Given the description of an element on the screen output the (x, y) to click on. 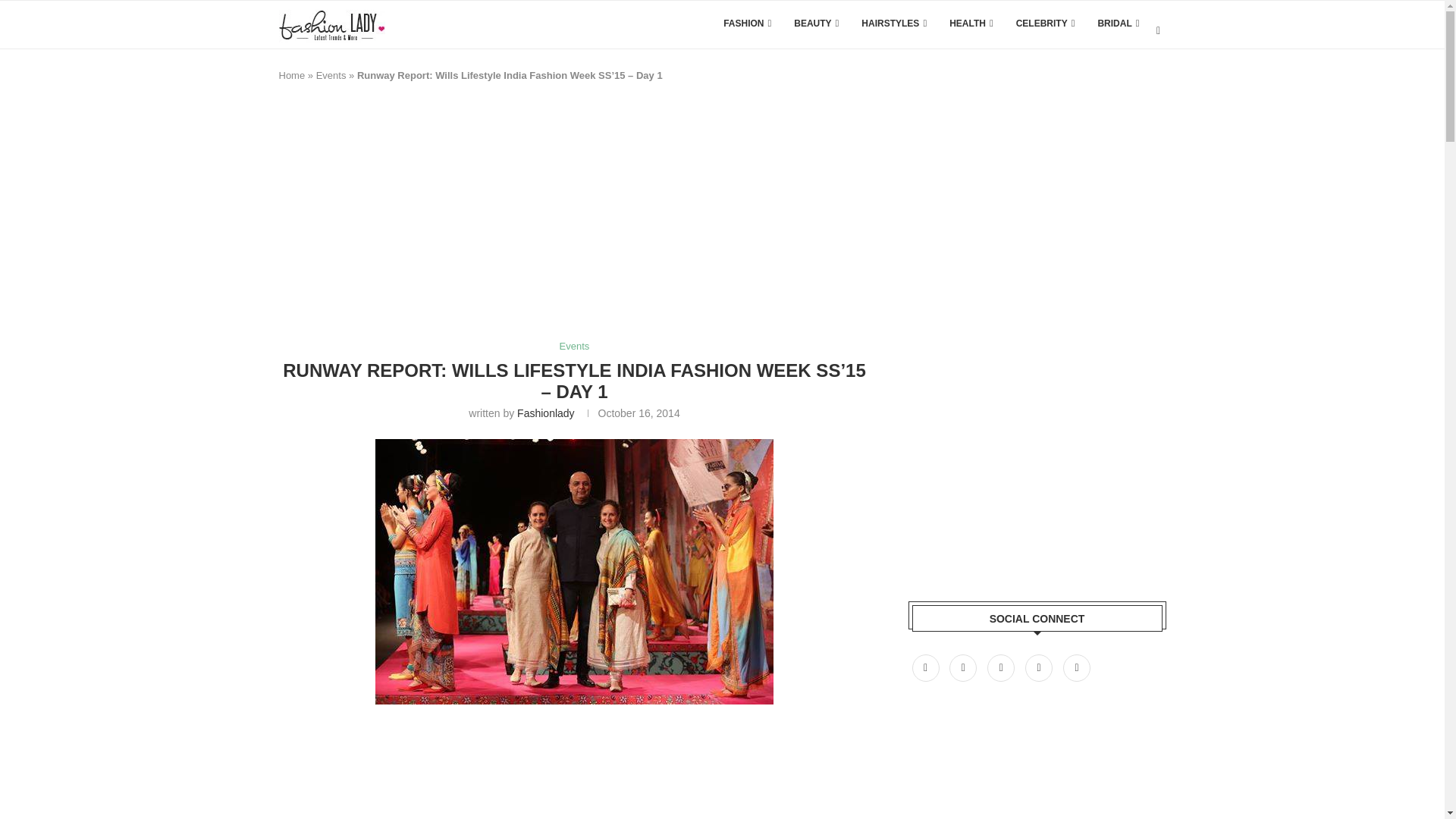
FASHION (747, 22)
HEALTH (970, 22)
Events (574, 346)
CELEBRITY (1045, 22)
Home (292, 75)
BRIDAL (1117, 22)
Events (330, 75)
HAIRSTYLES (893, 22)
BEAUTY (815, 22)
Fashionlady (545, 413)
